Given the description of an element on the screen output the (x, y) to click on. 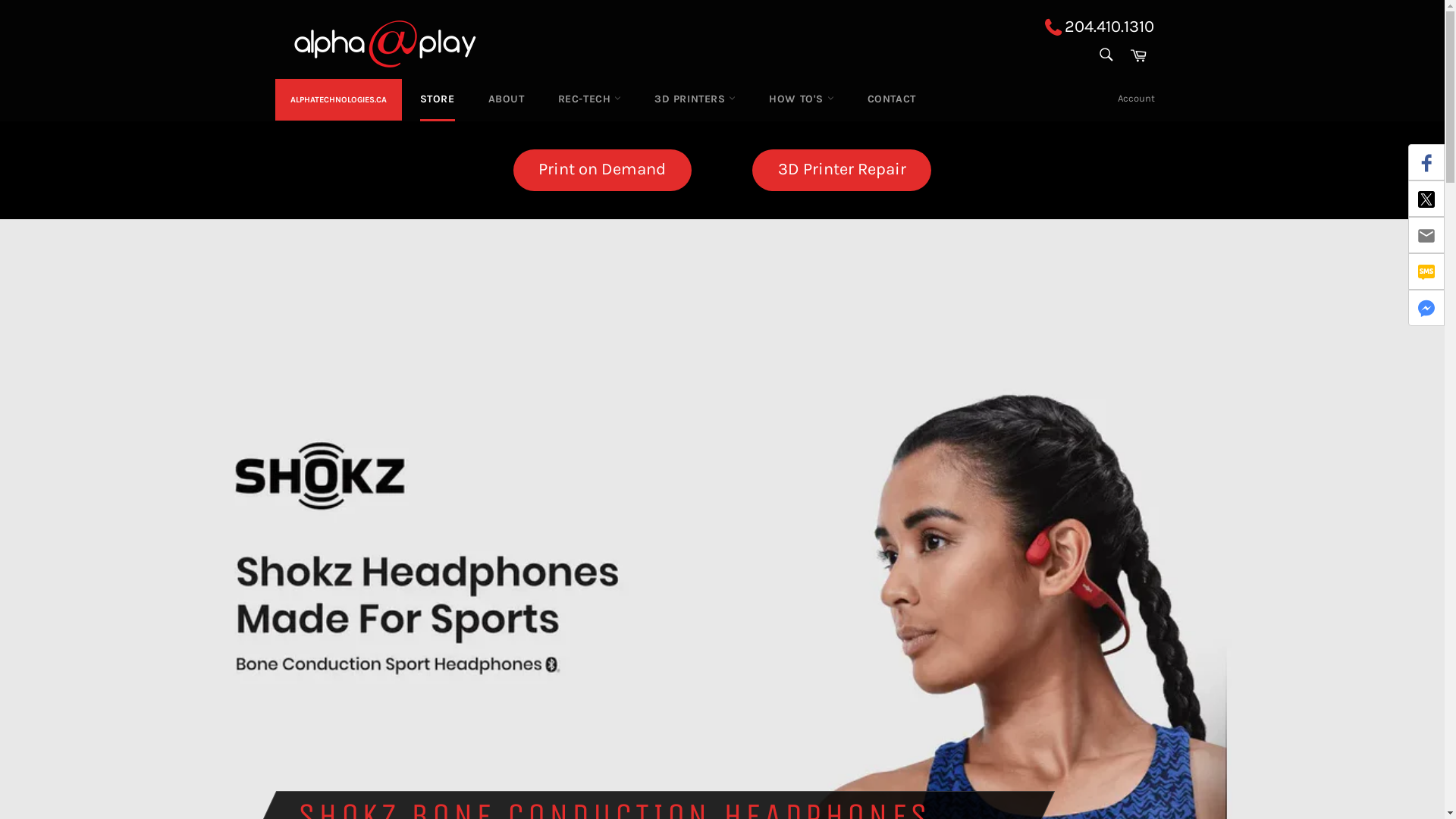
Cart Element type: text (1138, 55)
Search Element type: text (1105, 54)
ALPHATECHNOLOGIES.CA Element type: text (337, 99)
3D PRINTERS Element type: text (694, 98)
HOW TO'S Element type: text (800, 98)
REC-TECH Element type: text (589, 98)
CONTACT Element type: text (891, 98)
3D Printer Repair Element type: text (841, 170)
Account Element type: text (1136, 98)
STORE Element type: text (437, 98)
ABOUT Element type: text (506, 98)
Print on Demand Element type: text (602, 170)
